Given the description of an element on the screen output the (x, y) to click on. 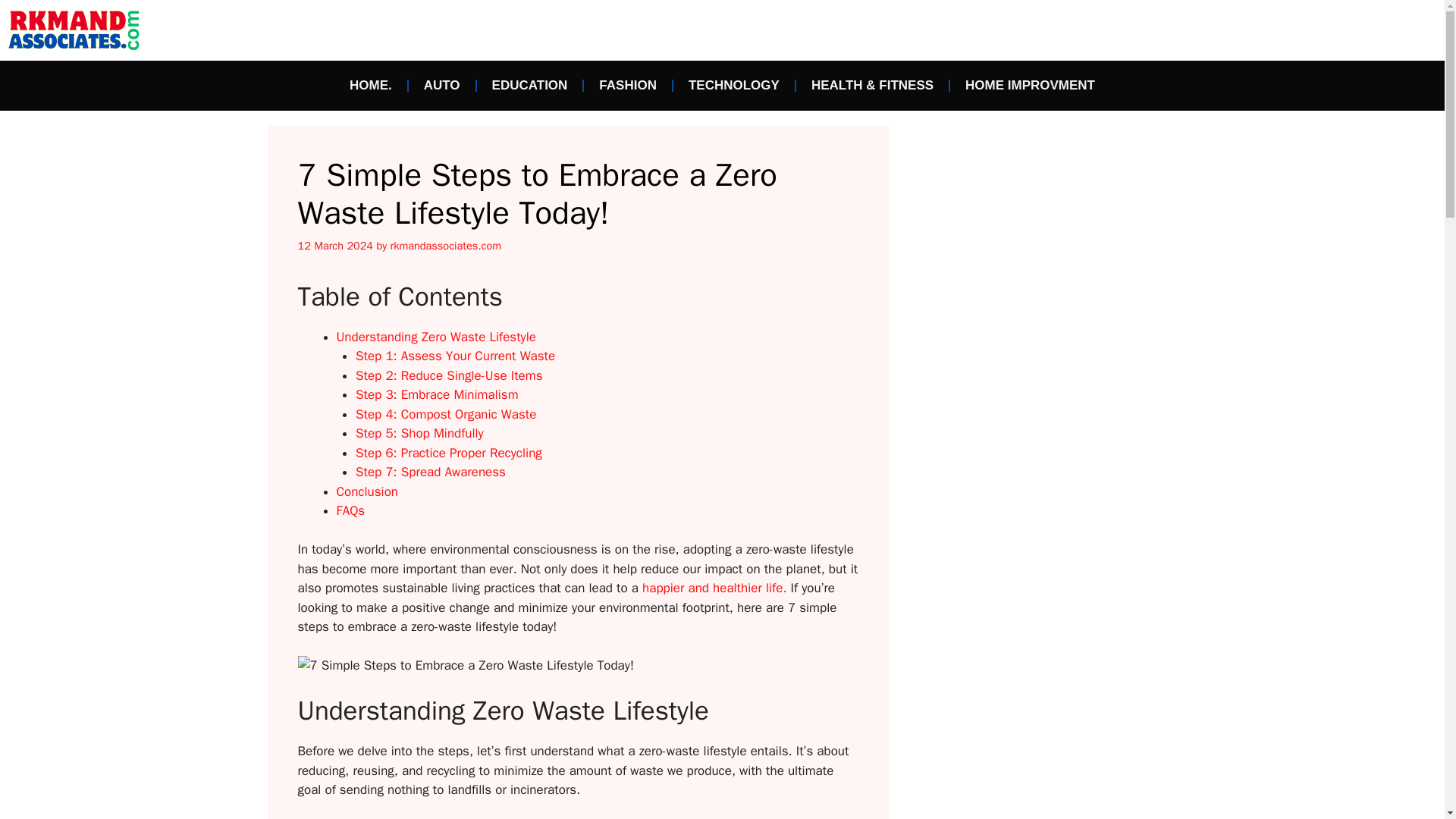
FAQs (350, 510)
EDUCATION (530, 85)
Step 2: Reduce Single-Use Items (449, 375)
Step 4: Compost Organic Waste (445, 414)
Understanding Zero Waste Lifestyle (435, 336)
Step 3: Embrace Minimalism (436, 394)
happier and healthier life. (714, 587)
View all posts by rkmandassociates.com (446, 245)
AUTO (442, 85)
HOME IMPROVMENT (1029, 85)
Step 1: Assess Your Current Waste (454, 355)
Step 6: Practice Proper Recycling (448, 453)
HOME. (370, 85)
Step 7: Spread Awareness (430, 471)
rkmandassociates.com (446, 245)
